Given the description of an element on the screen output the (x, y) to click on. 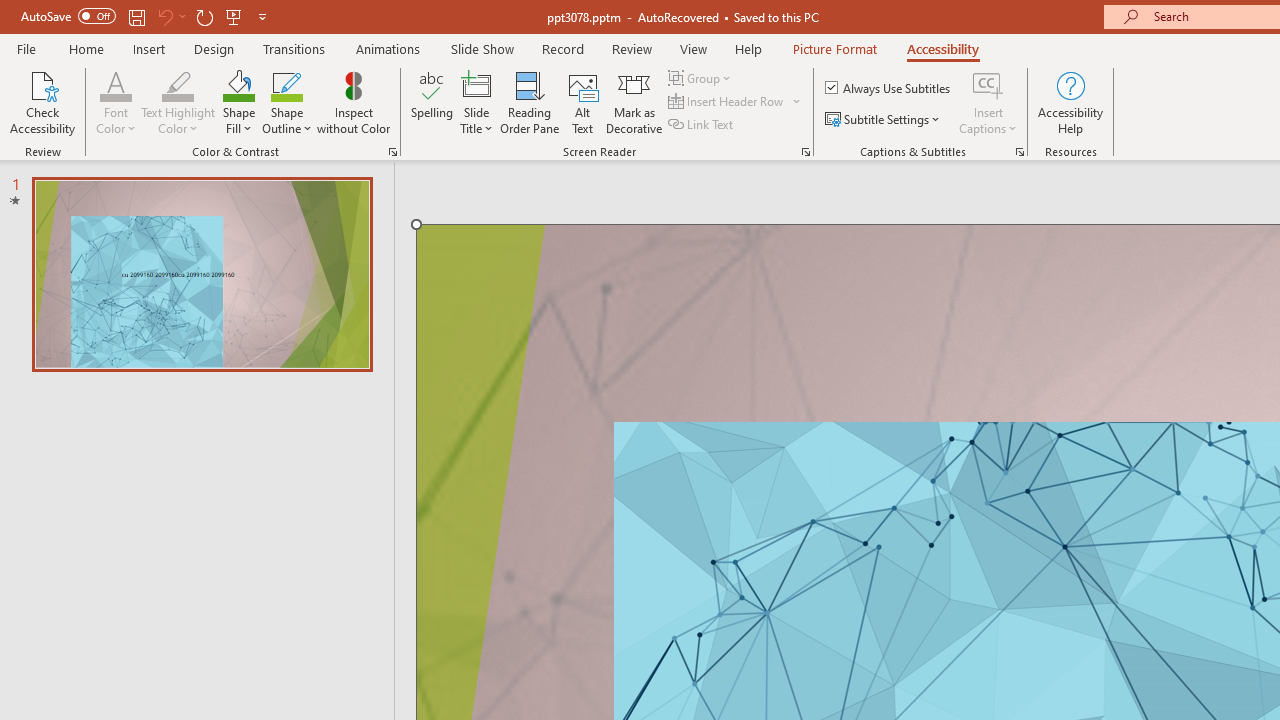
Mark as Decorative (634, 102)
Reading Order Pane (529, 102)
